Given the description of an element on the screen output the (x, y) to click on. 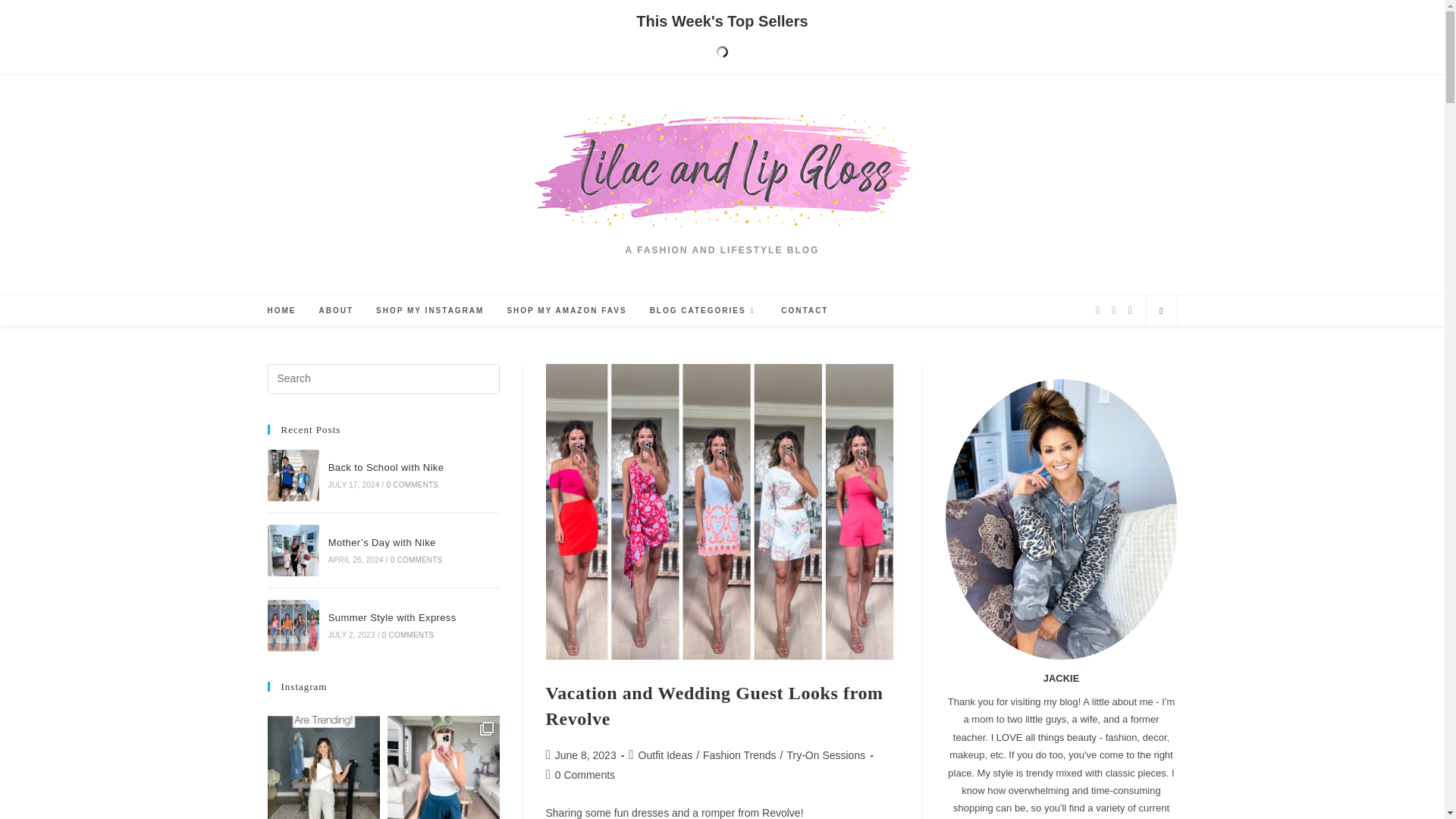
Summer Style with Express (292, 625)
HOME (281, 310)
SHOP MY INSTAGRAM (430, 310)
BLOG CATEGORIES (704, 310)
SHOP MY AMAZON FAVS (566, 310)
ABOUT (336, 310)
Back to School with Nike (292, 475)
CONTACT (805, 310)
